Given the description of an element on the screen output the (x, y) to click on. 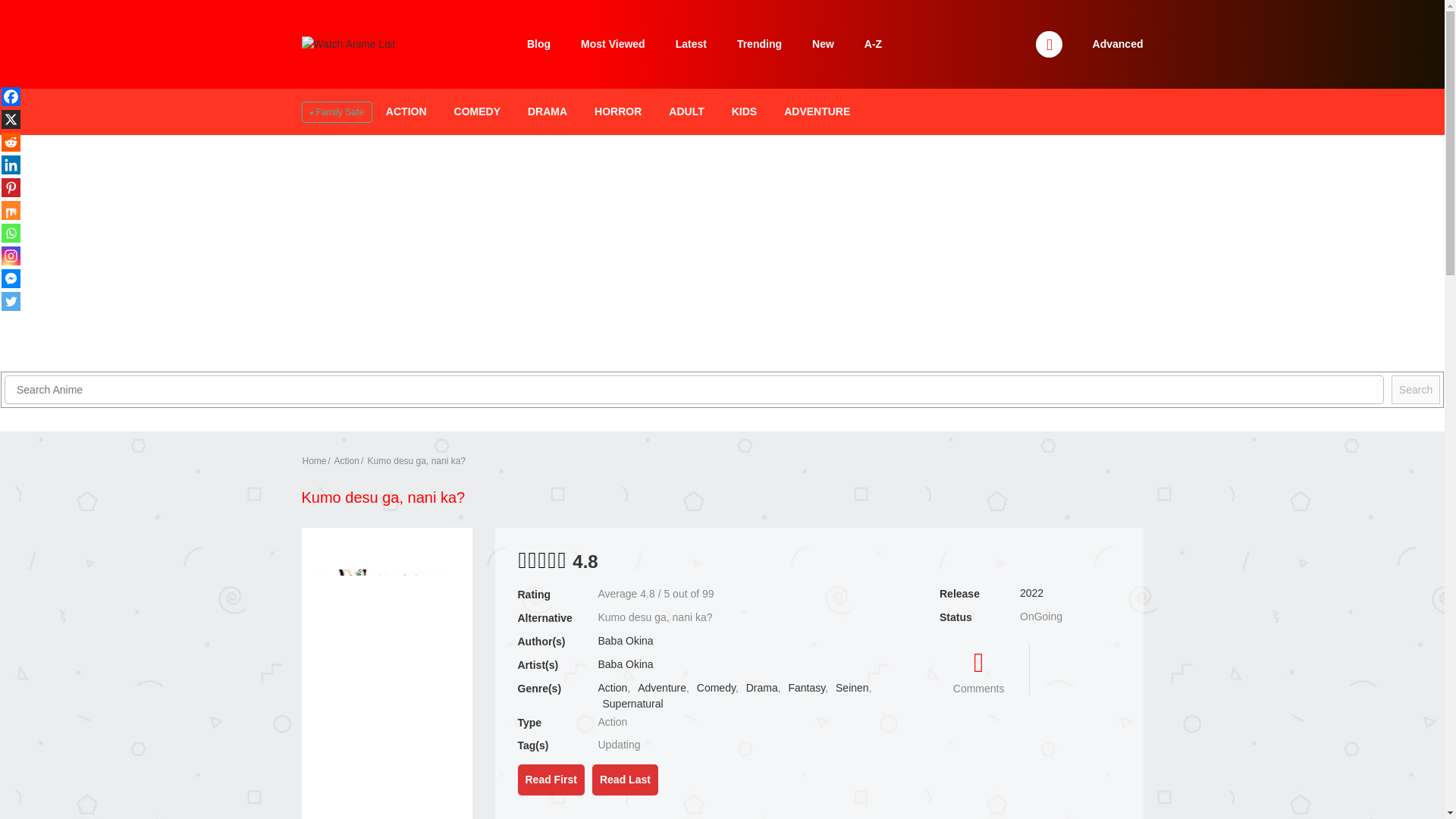
Fantasy (806, 687)
Adventure (661, 687)
Baba Okina (624, 640)
ACTION (405, 111)
KIDS (744, 111)
ADULT (686, 111)
Latest (691, 44)
Family Safe (335, 112)
Trending (759, 44)
Comedy (716, 687)
Search (1415, 389)
Kumo desu ga, nani ka? (416, 460)
HORROR (617, 111)
COMEDY (477, 111)
Search (970, 9)
